Given the description of an element on the screen output the (x, y) to click on. 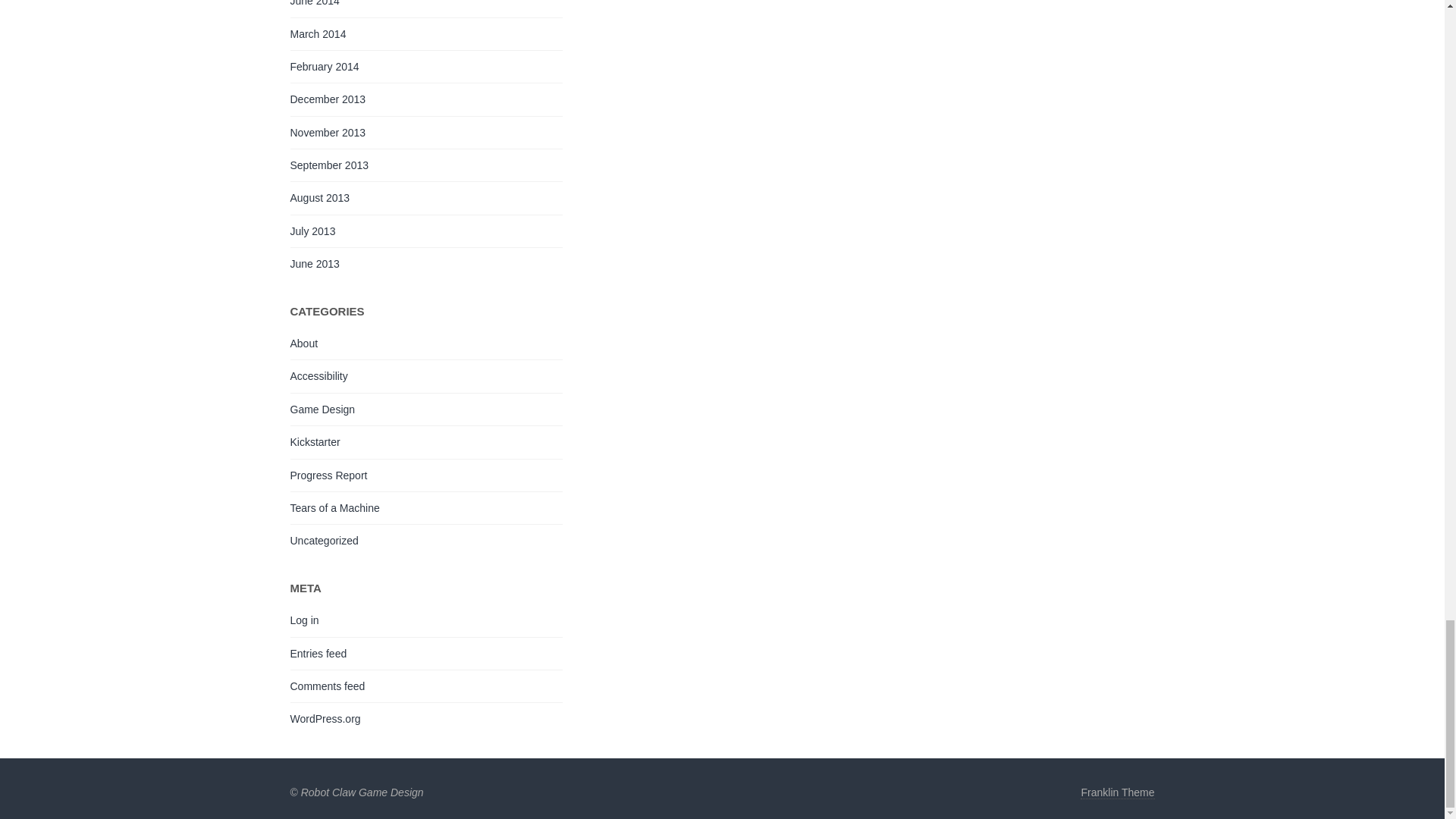
March 2014 (317, 33)
Robot Claw Game Design (362, 792)
Franklin WordPress Theme (1117, 792)
June 2014 (314, 3)
